Given the description of an element on the screen output the (x, y) to click on. 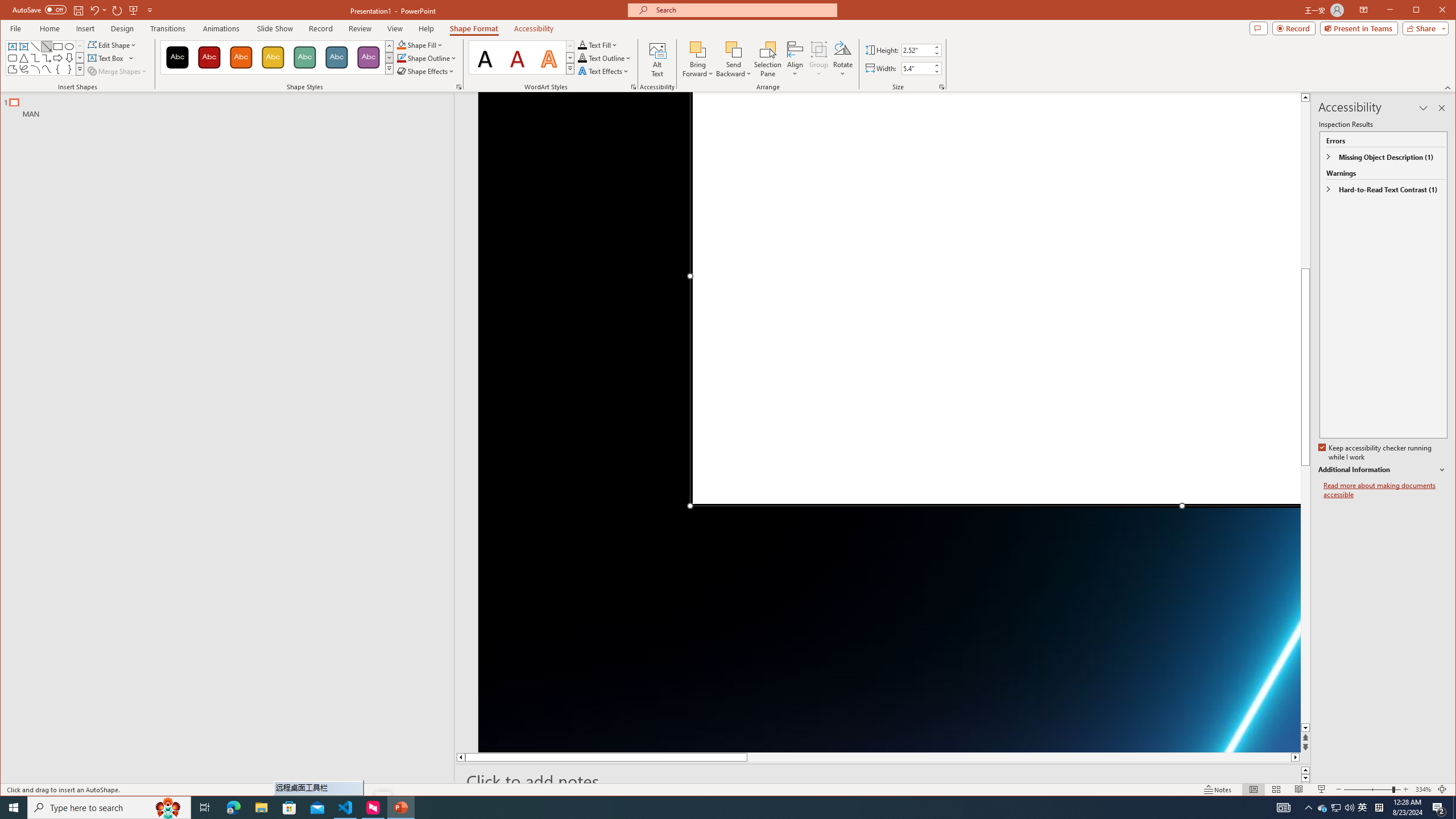
More (935, 64)
Selection Pane... (767, 59)
Curve (46, 69)
AutomationID: 4105 (1283, 807)
File Explorer (261, 807)
Text Fill (598, 44)
Title TextBox (1322, 807)
